Given the description of an element on the screen output the (x, y) to click on. 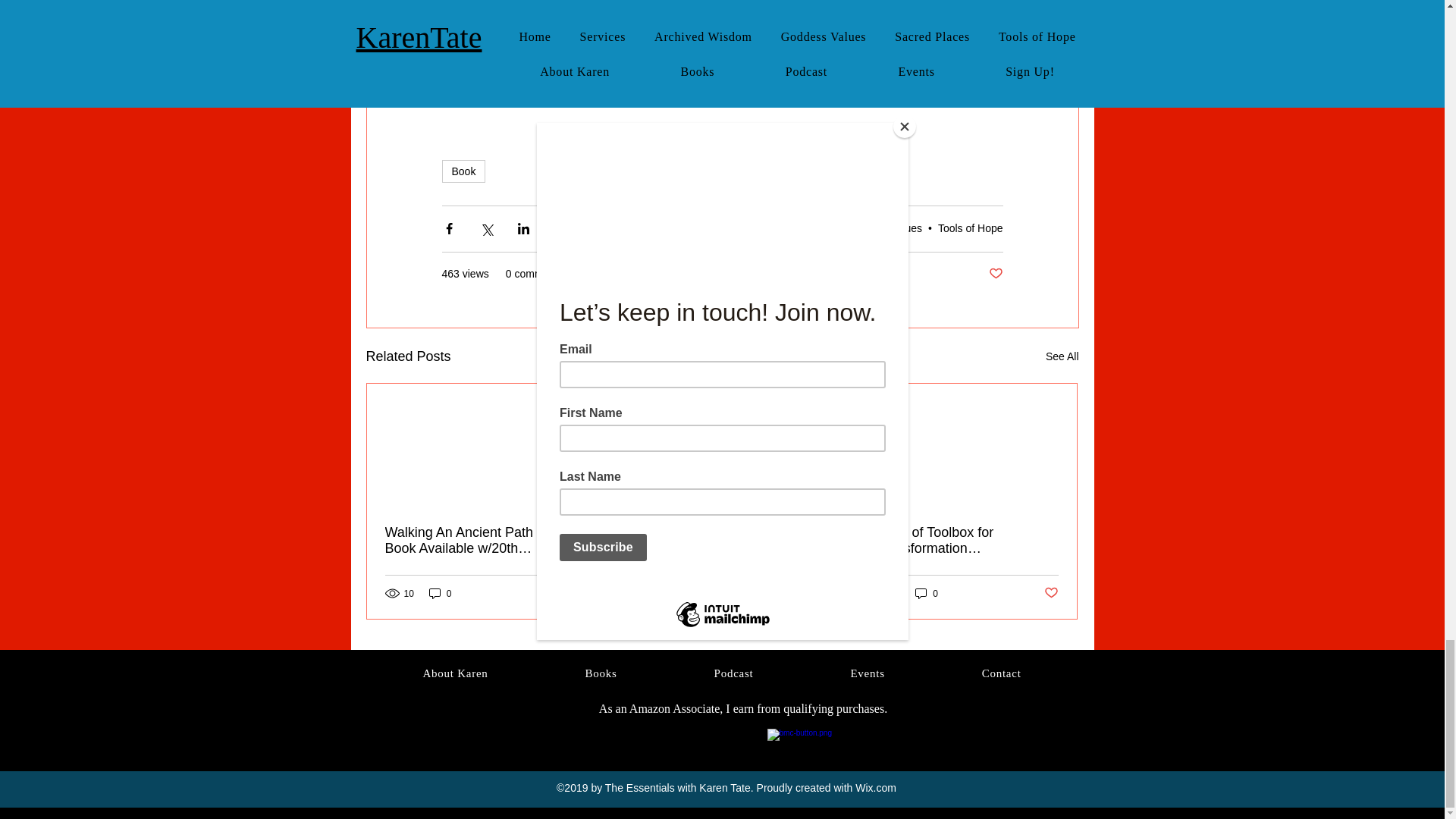
Post not marked as liked (558, 593)
About Karen (455, 673)
0 (681, 593)
Post not marked as liked (804, 593)
See All (1061, 356)
Post not marked as liked (1050, 593)
Tools of Hope (970, 227)
0 (926, 593)
0 (440, 593)
Book (462, 170)
Post not marked as liked (995, 273)
Goddess Values (882, 227)
